Given the description of an element on the screen output the (x, y) to click on. 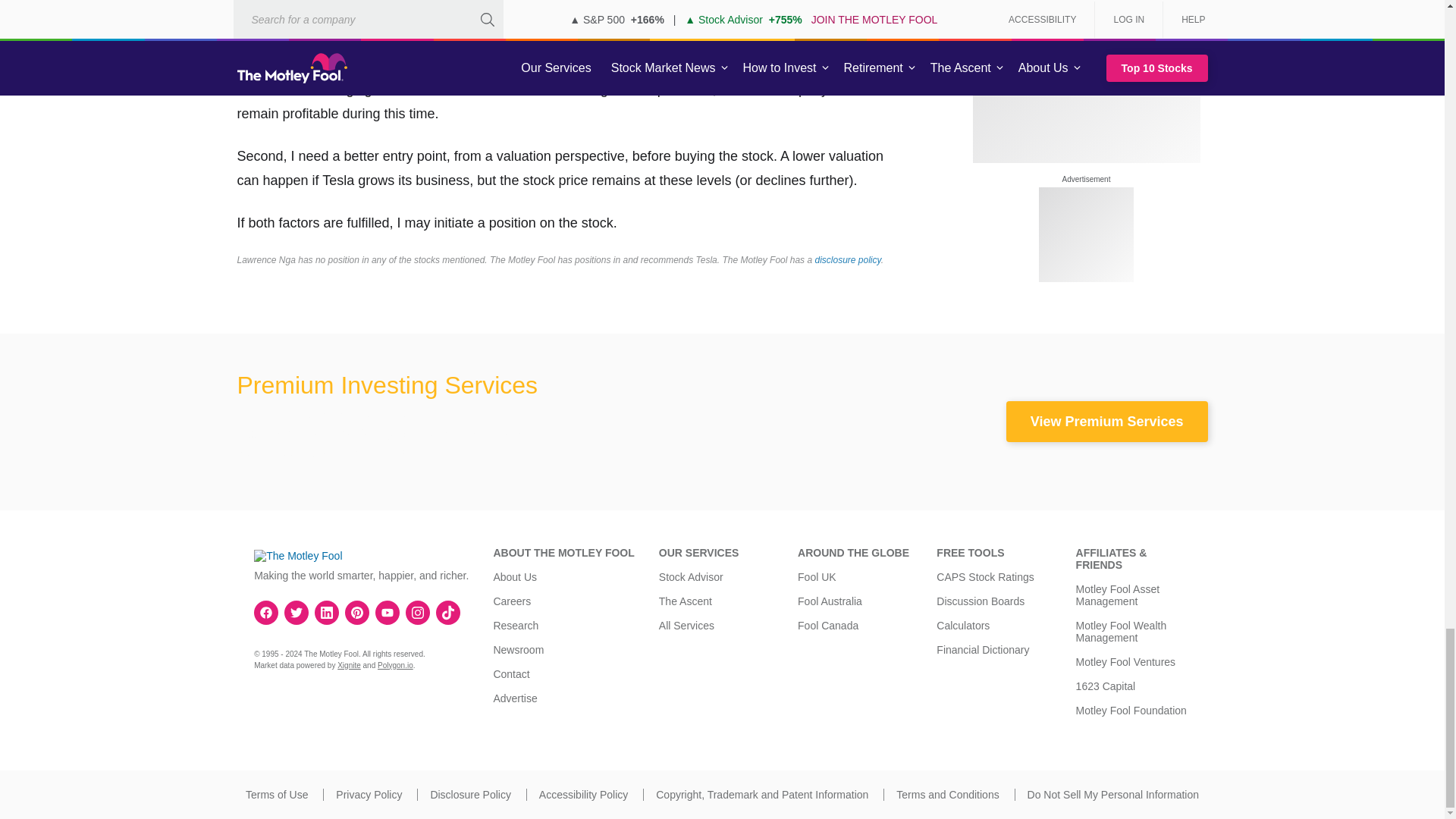
Do Not Sell My Personal Information. (1112, 794)
Terms and Conditions (947, 794)
Disclosure Policy (470, 794)
Accessibility Policy (582, 794)
Copyright, Trademark and Patent Information (761, 794)
Terms of Use (276, 794)
Privacy Policy (368, 794)
